Given the description of an element on the screen output the (x, y) to click on. 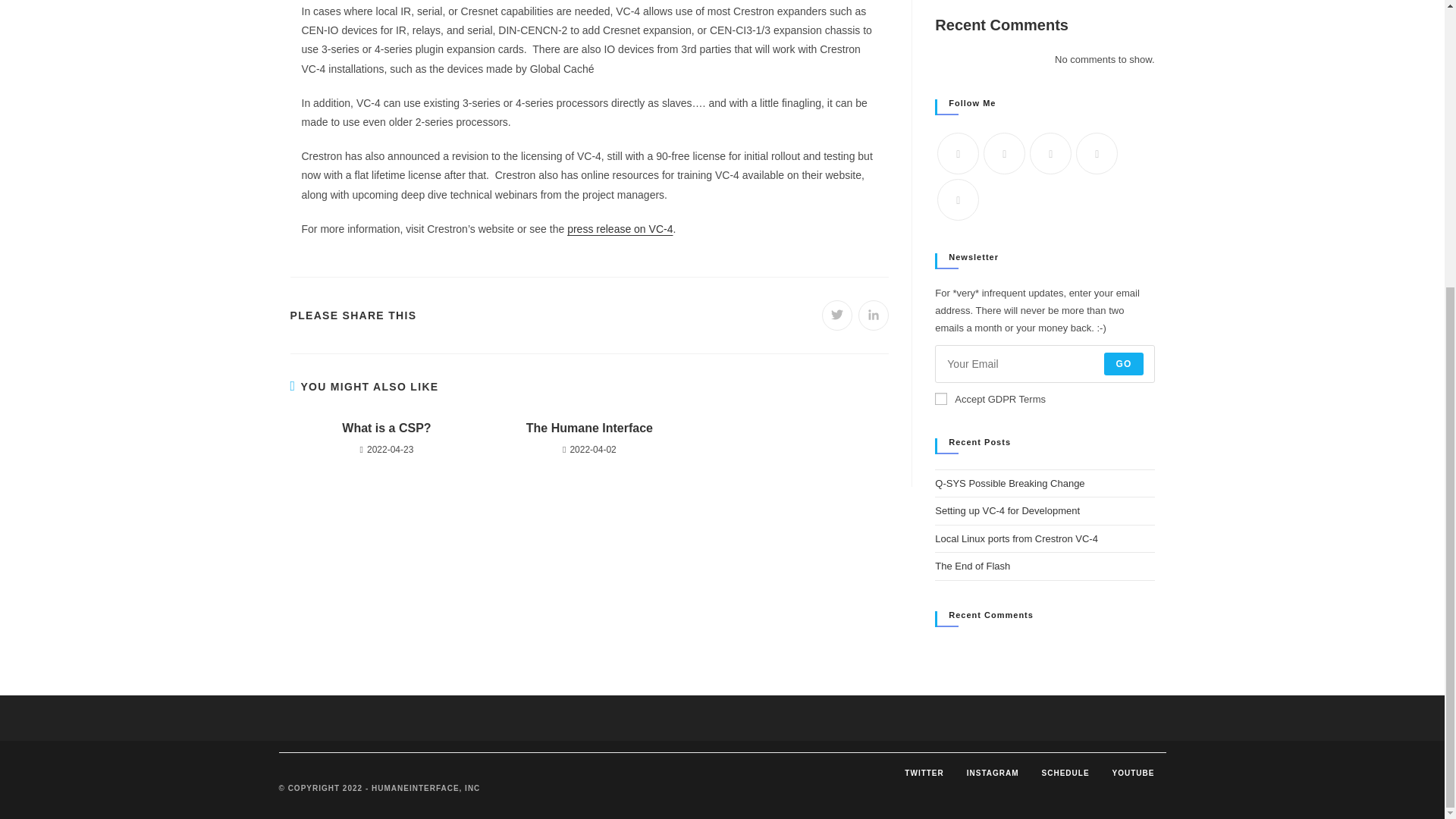
Opens in a new window (873, 315)
Opens in a new window (836, 315)
1 (940, 398)
What is a CSP? (386, 428)
press release on VC-4 (619, 228)
The Humane Interface (589, 428)
